Given the description of an element on the screen output the (x, y) to click on. 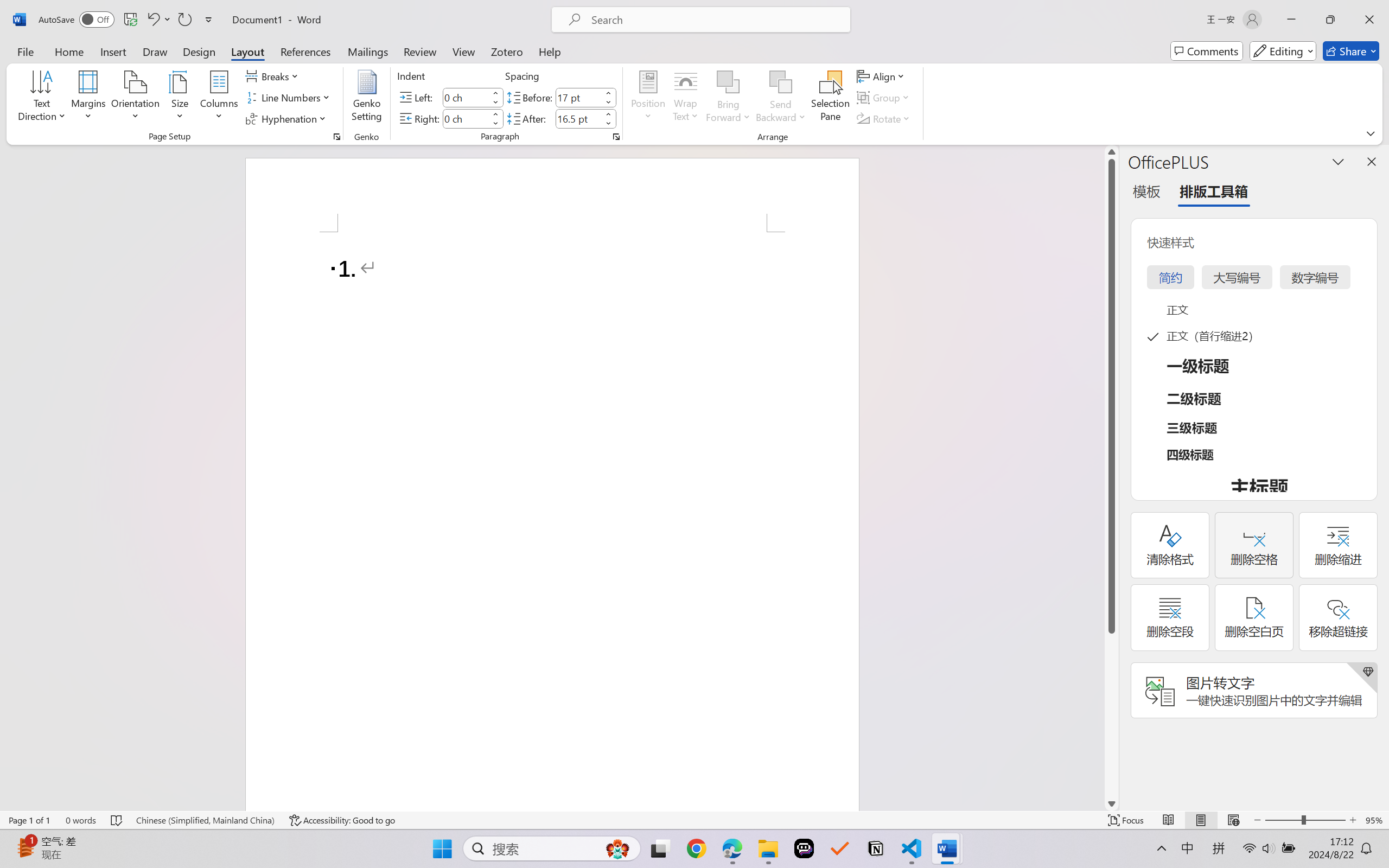
More (608, 113)
Text Direction (42, 97)
Wrap Text (685, 97)
Microsoft search (715, 19)
Bring Forward (728, 81)
Page Setup... (336, 136)
Bring Forward (728, 97)
